Given the description of an element on the screen output the (x, y) to click on. 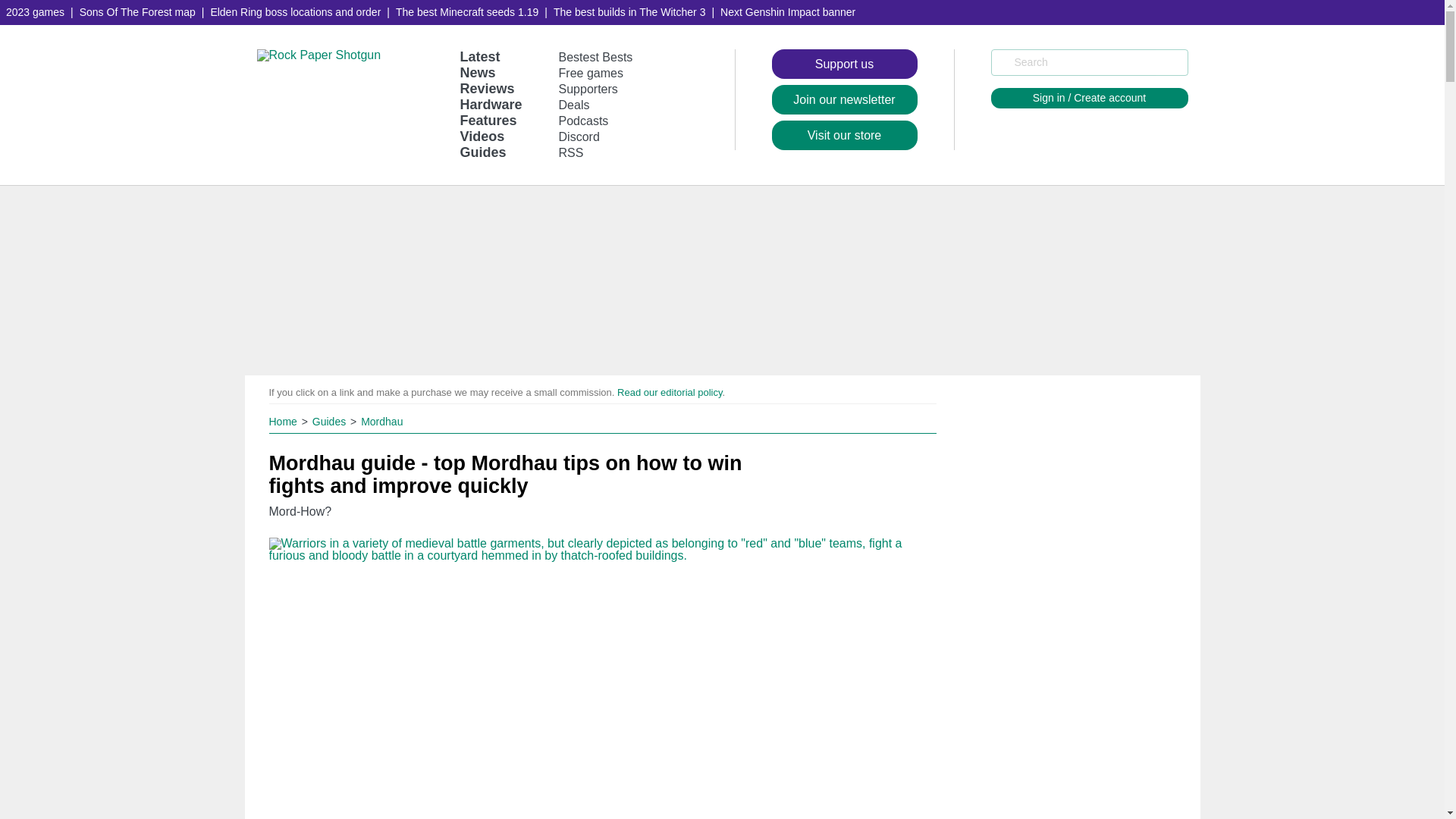
Join our newsletter (844, 99)
Features (488, 120)
Guides (329, 421)
Latest (479, 56)
Videos (481, 136)
Podcasts (583, 120)
Mordhau (382, 421)
The best Minecraft seeds 1.19 (467, 12)
Discord (579, 136)
2023 games (34, 12)
